Given the description of an element on the screen output the (x, y) to click on. 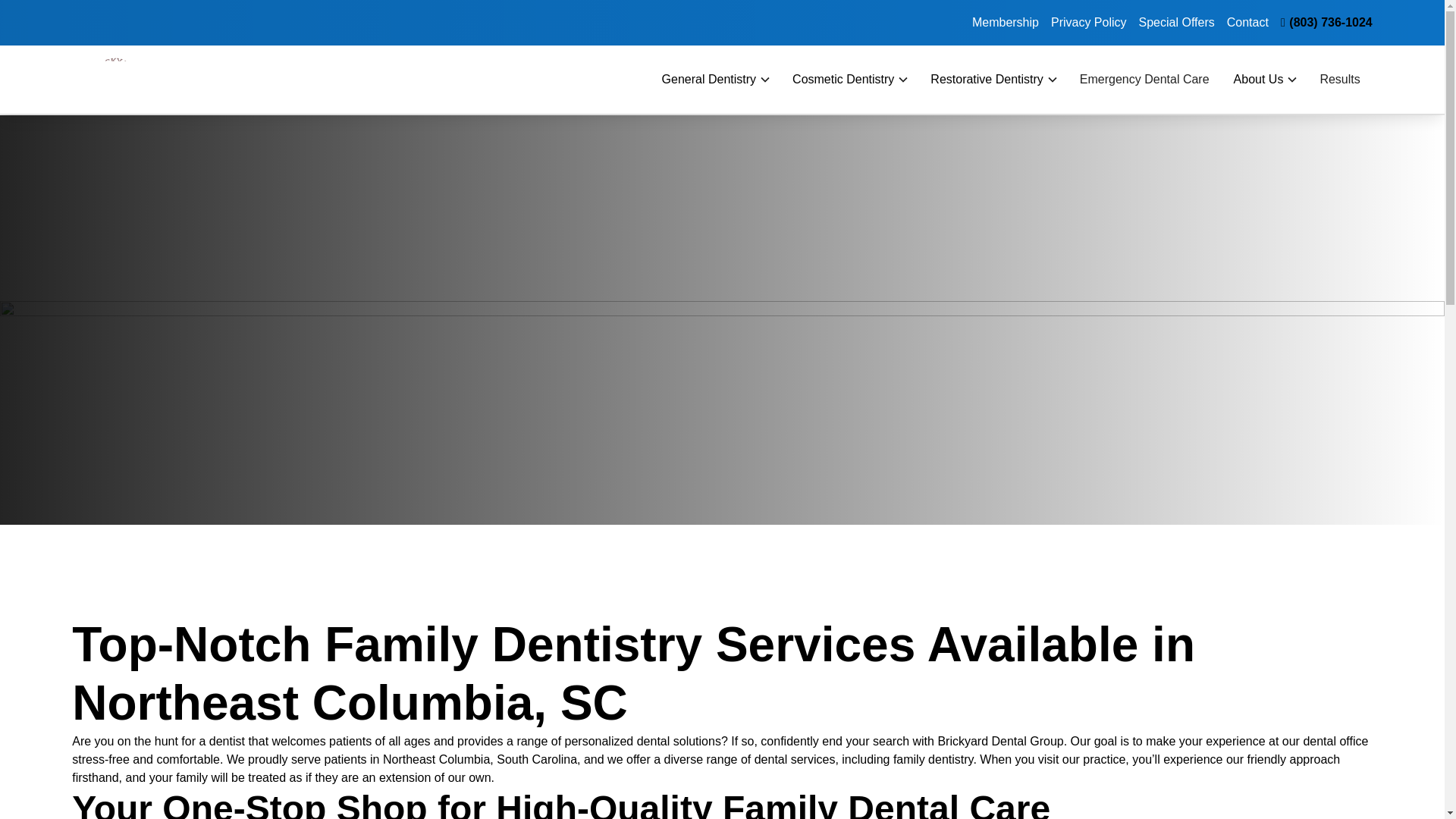
Schedule An Appointment (1246, 36)
Contact (1247, 22)
Special Offers (1176, 22)
Membership (1005, 22)
General Dentistry (709, 78)
Privacy Policy (1088, 22)
